Given the description of an element on the screen output the (x, y) to click on. 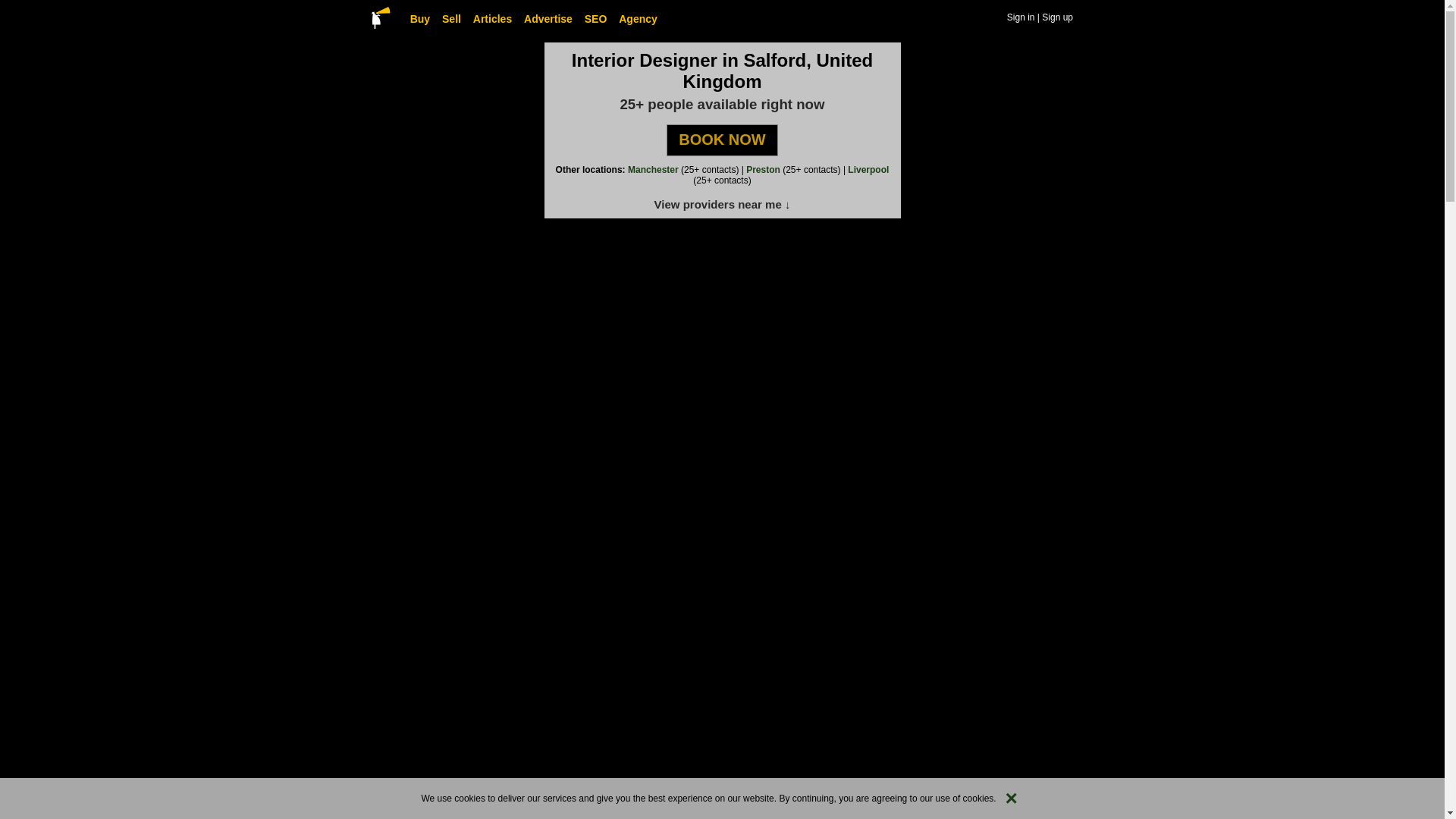
Sign up (1057, 17)
Agency (638, 19)
Liverpool (867, 169)
Articles (492, 19)
Advertise (548, 19)
Sell (451, 19)
Preston (762, 169)
Sign in (1021, 17)
Manchester (652, 169)
Buy (420, 19)
